Given the description of an element on the screen output the (x, y) to click on. 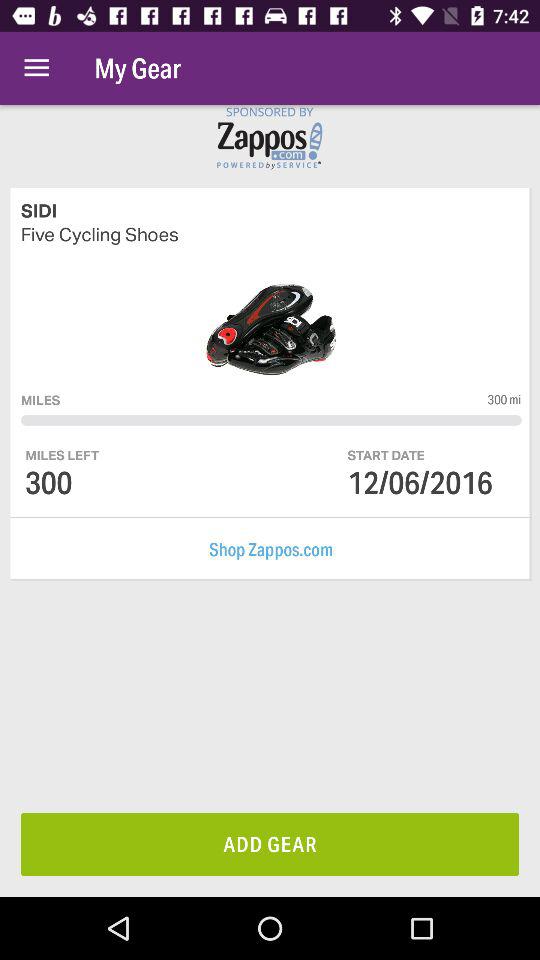
choose the icon next to the miles left item (419, 482)
